Given the description of an element on the screen output the (x, y) to click on. 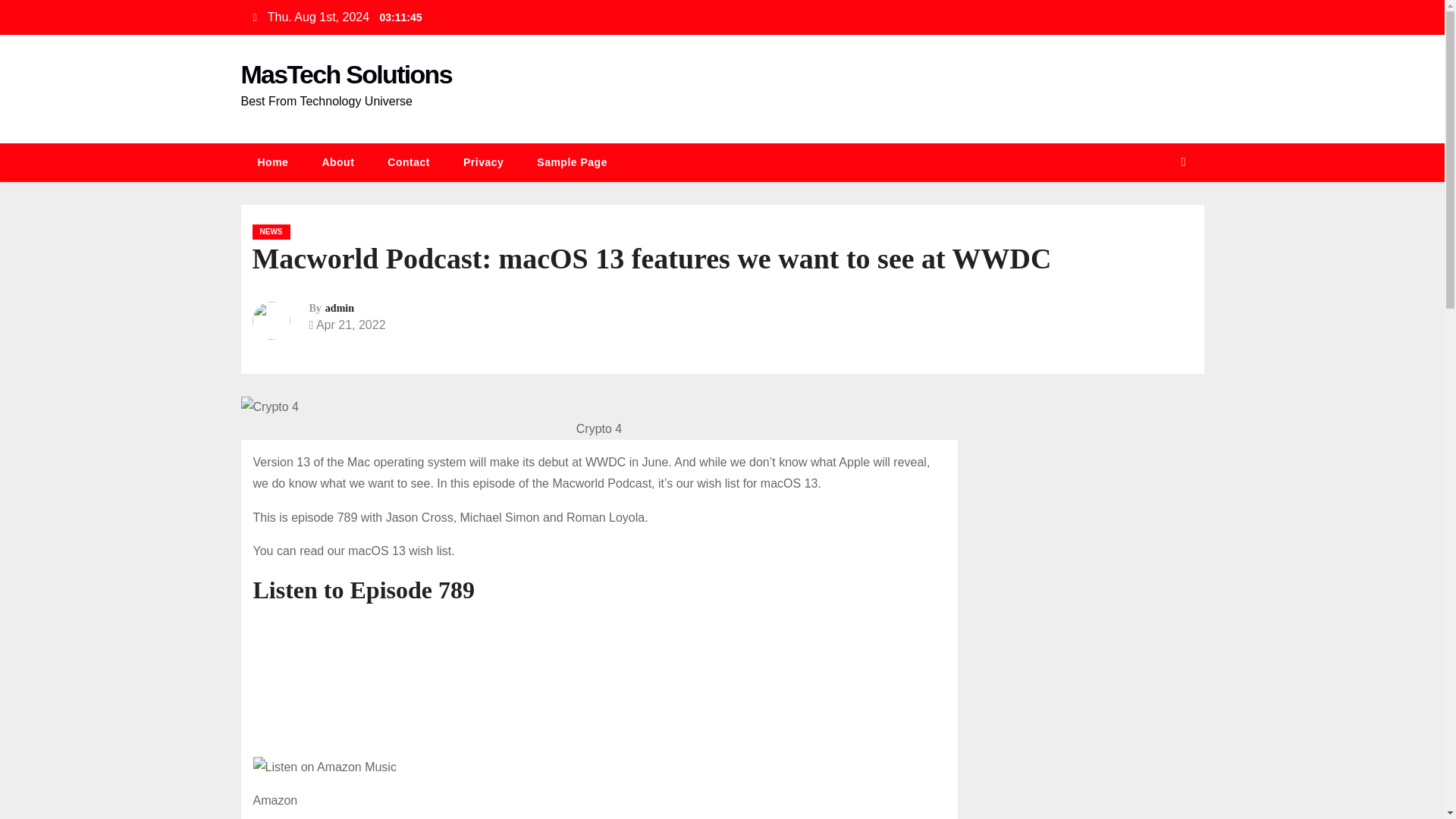
Contact (408, 162)
Home (273, 162)
Sample Page (571, 162)
About (337, 162)
Home (273, 162)
MasTech Solutions (346, 73)
Privacy (482, 162)
NEWS (270, 231)
admin (338, 307)
Spotify Embed: Episode 789: A macOS 13 wishlist (598, 679)
